Given the description of an element on the screen output the (x, y) to click on. 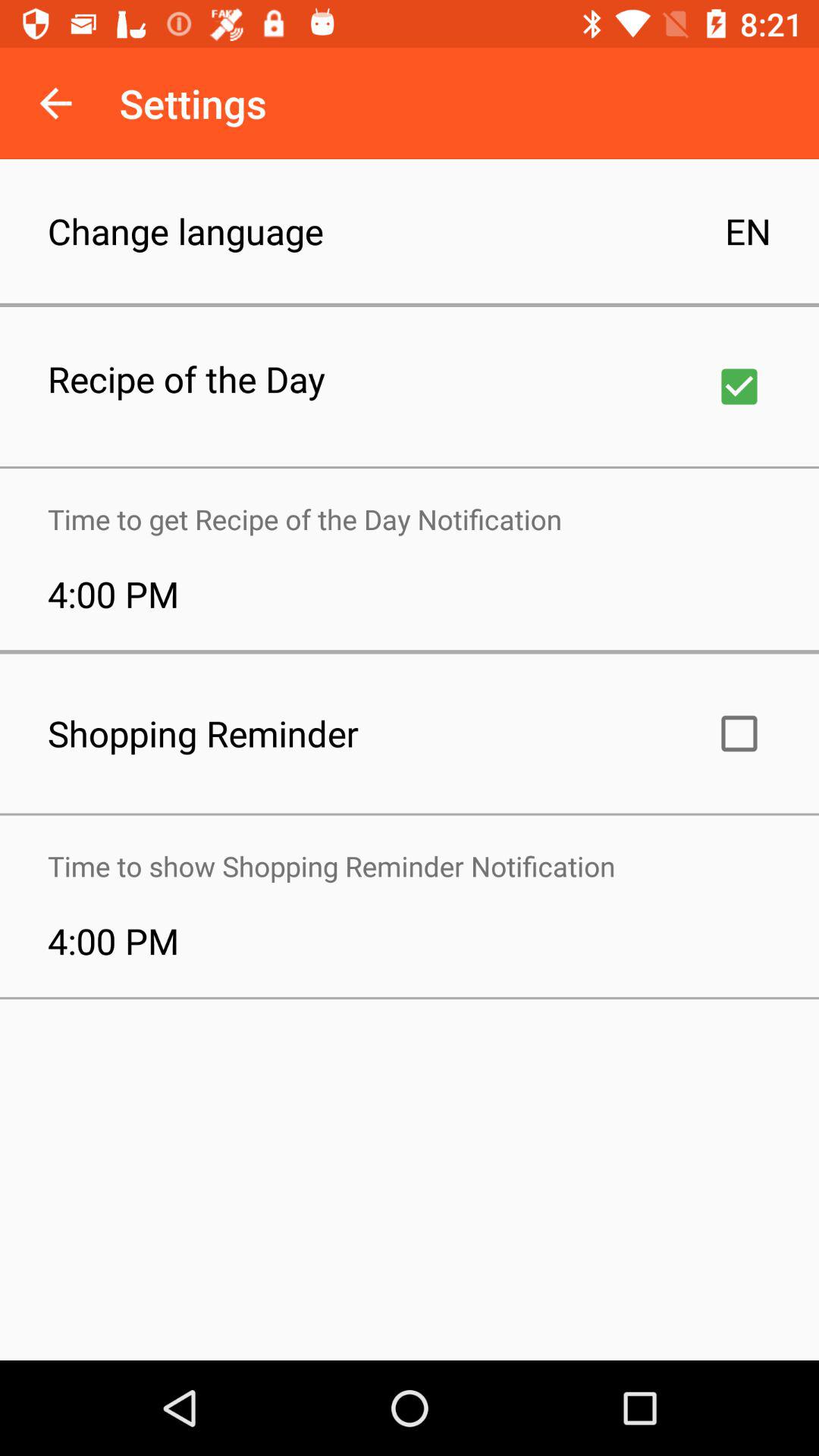
tap the app next to the settings app (55, 103)
